Given the description of an element on the screen output the (x, y) to click on. 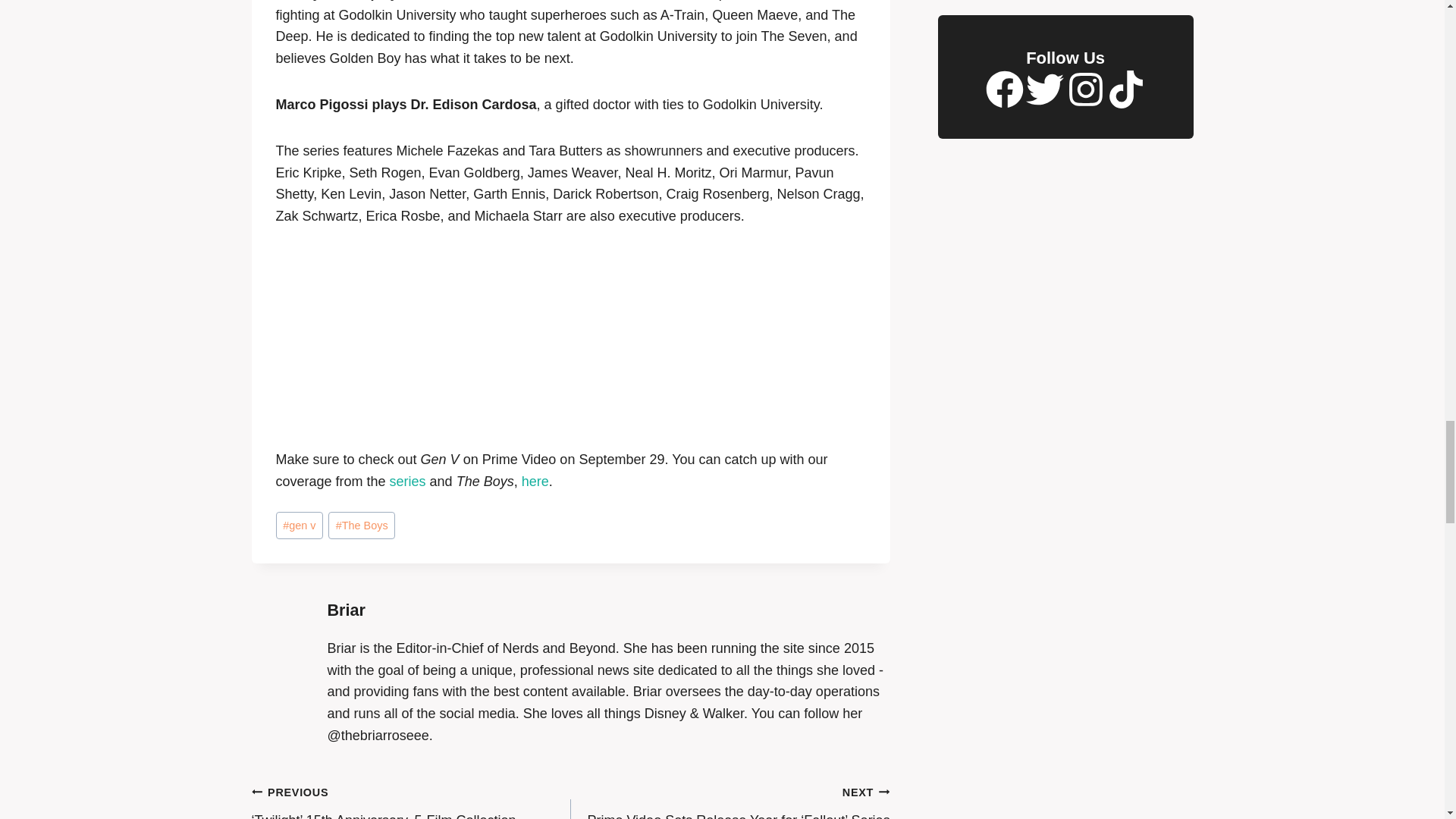
Posts by Briar (346, 609)
The Boys (361, 525)
gen v (299, 525)
